Given the description of an element on the screen output the (x, y) to click on. 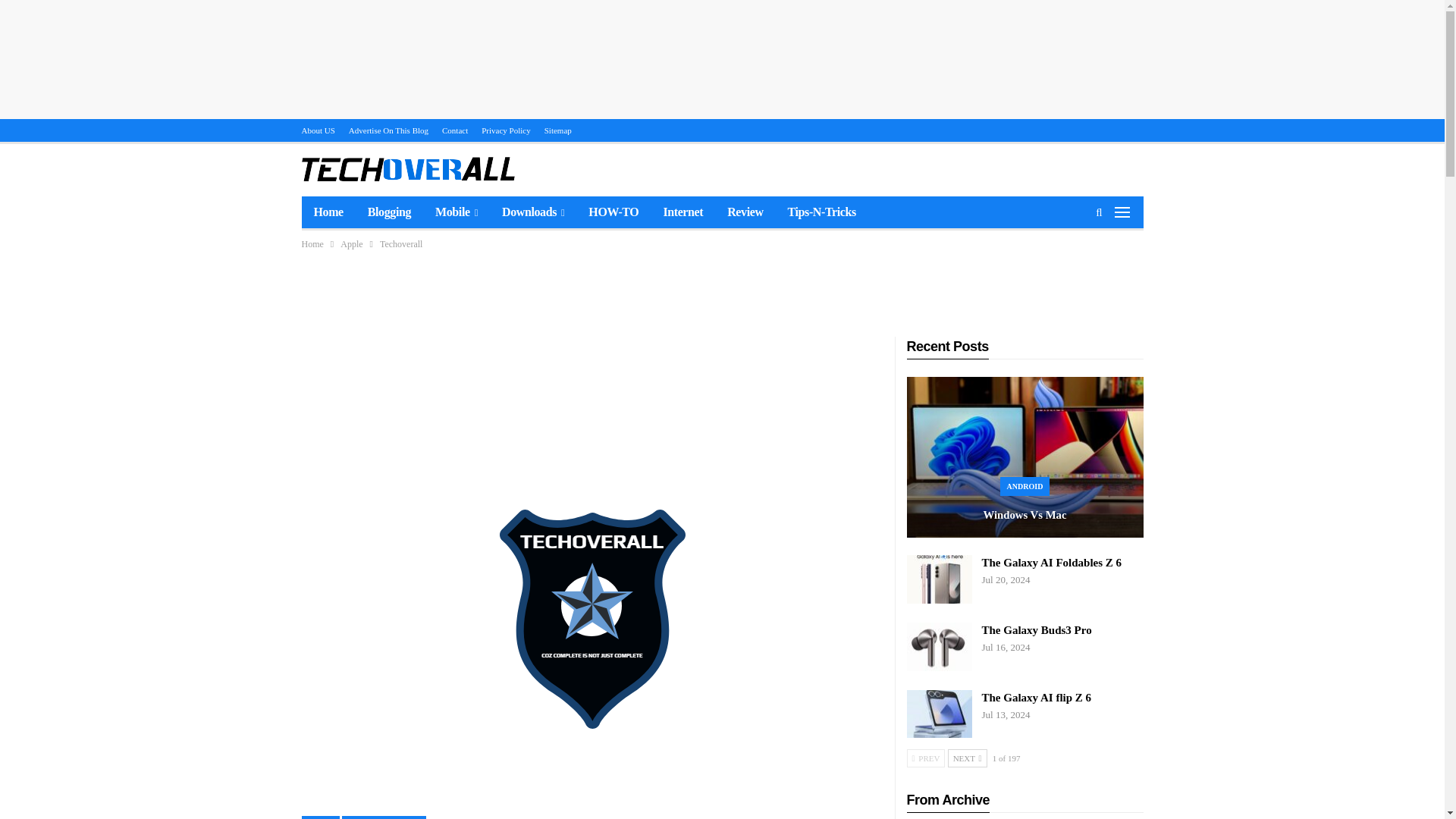
APPLE (320, 817)
HOW-TO (613, 212)
Downloads (532, 212)
Review (744, 212)
Tips-N-Tricks (821, 212)
Home (312, 243)
Advertise On This Blog (388, 130)
BEST TECH BLOGS (384, 817)
Apple (351, 243)
Advertisement (721, 288)
Contact (454, 130)
About US (317, 130)
Mobile (456, 212)
Advertisement (591, 370)
Blogging (389, 212)
